Given the description of an element on the screen output the (x, y) to click on. 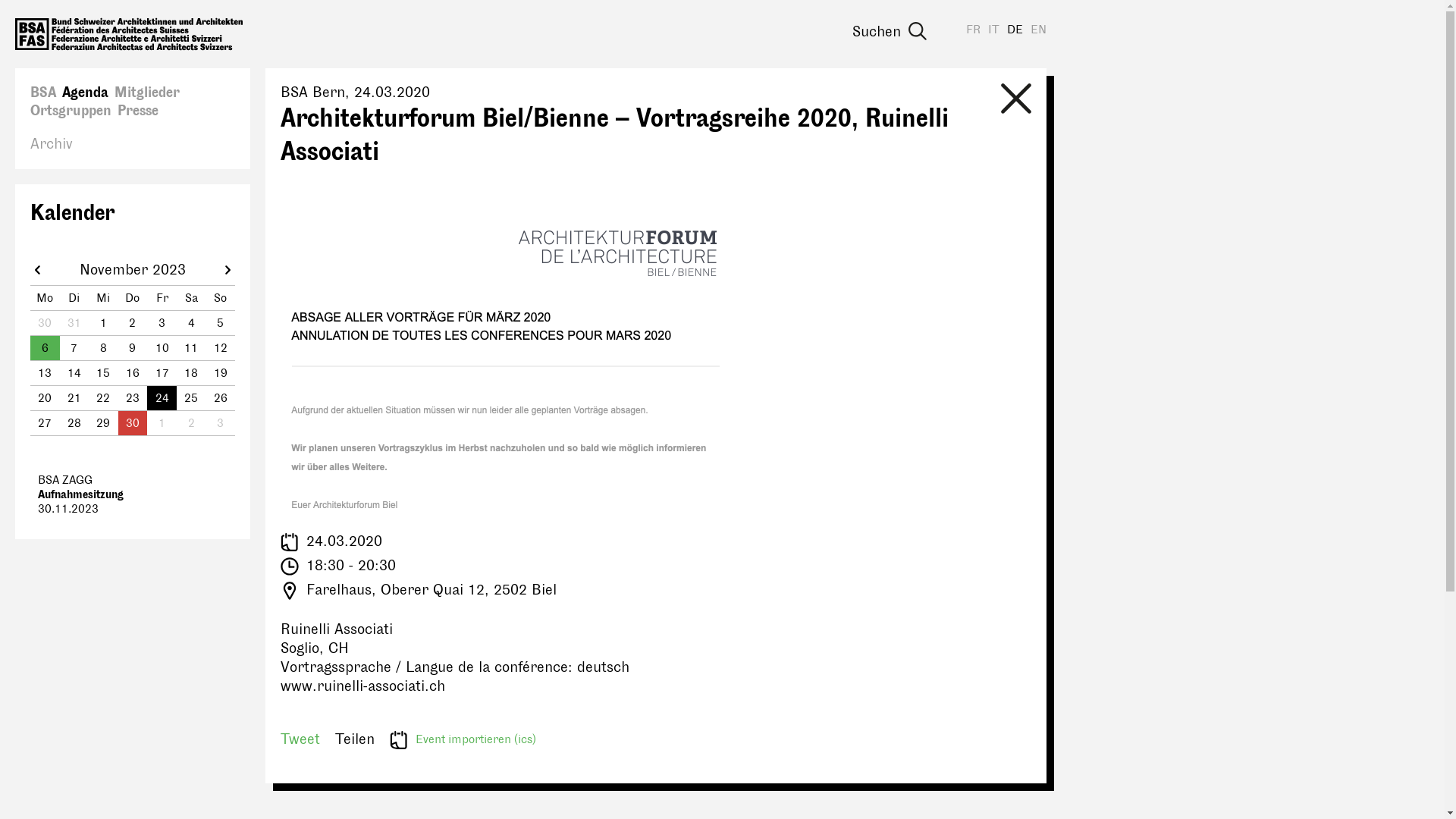
DE Element type: text (1014, 30)
EN Element type: text (1038, 30)
Tweet Element type: text (300, 739)
Suchen Element type: text (913, 30)
Agenda Element type: text (85, 92)
Presse Element type: text (137, 110)
BSA ZAGG
Aufnahmesitzung
30.11.2023 Element type: text (132, 494)
bsa-fas.ch Element type: hover (128, 34)
Event importieren (ics) Element type: text (462, 739)
Mitglieder Element type: text (146, 92)
Ortsgruppen Element type: text (70, 110)
Archiv Element type: text (51, 143)
FR Element type: text (973, 30)
IT Element type: text (993, 30)
BSA Element type: text (43, 92)
